Given the description of an element on the screen output the (x, y) to click on. 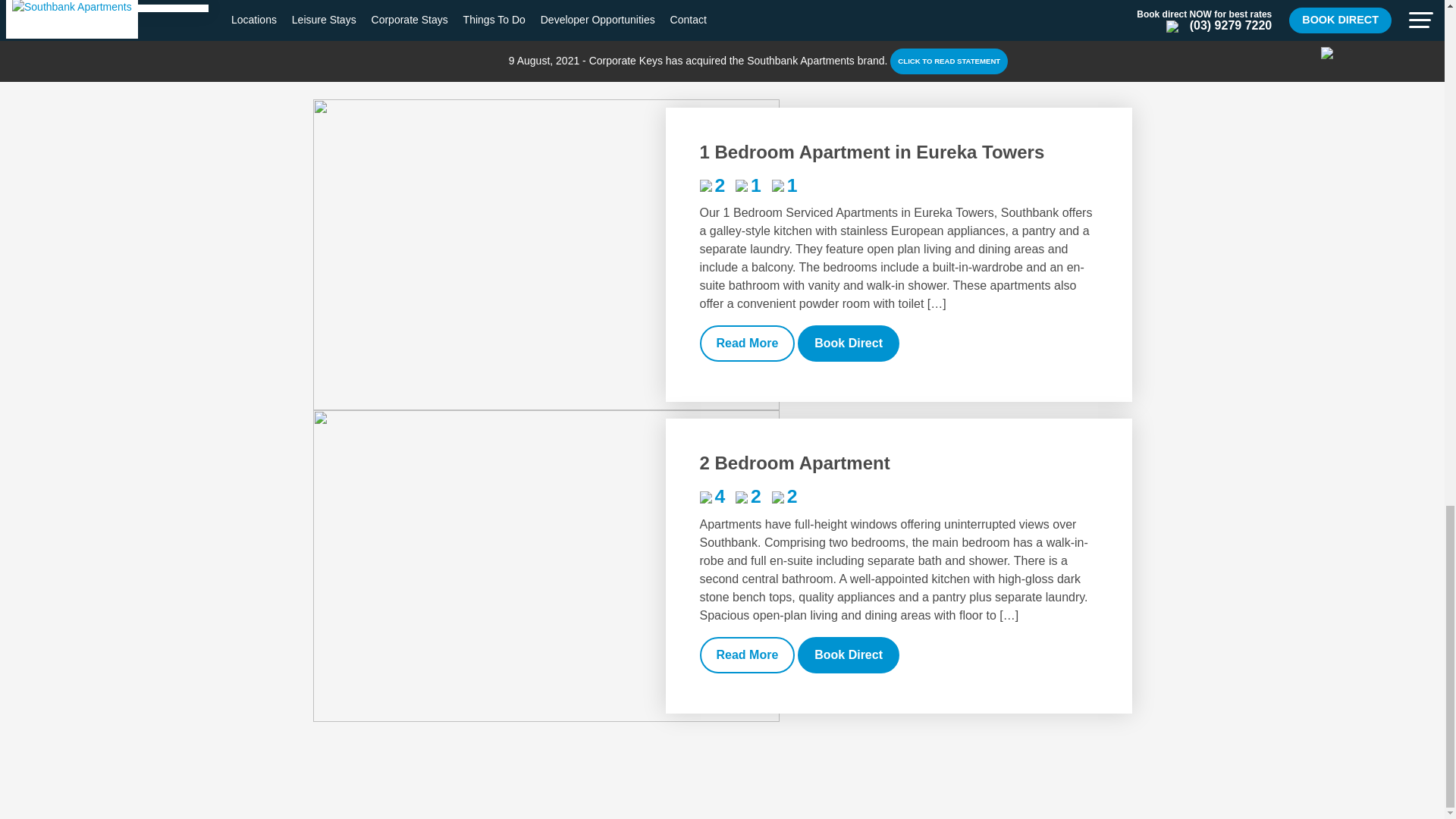
Book Direct (848, 343)
Book Direct (848, 655)
Read More (746, 655)
Read More (746, 343)
